Given the description of an element on the screen output the (x, y) to click on. 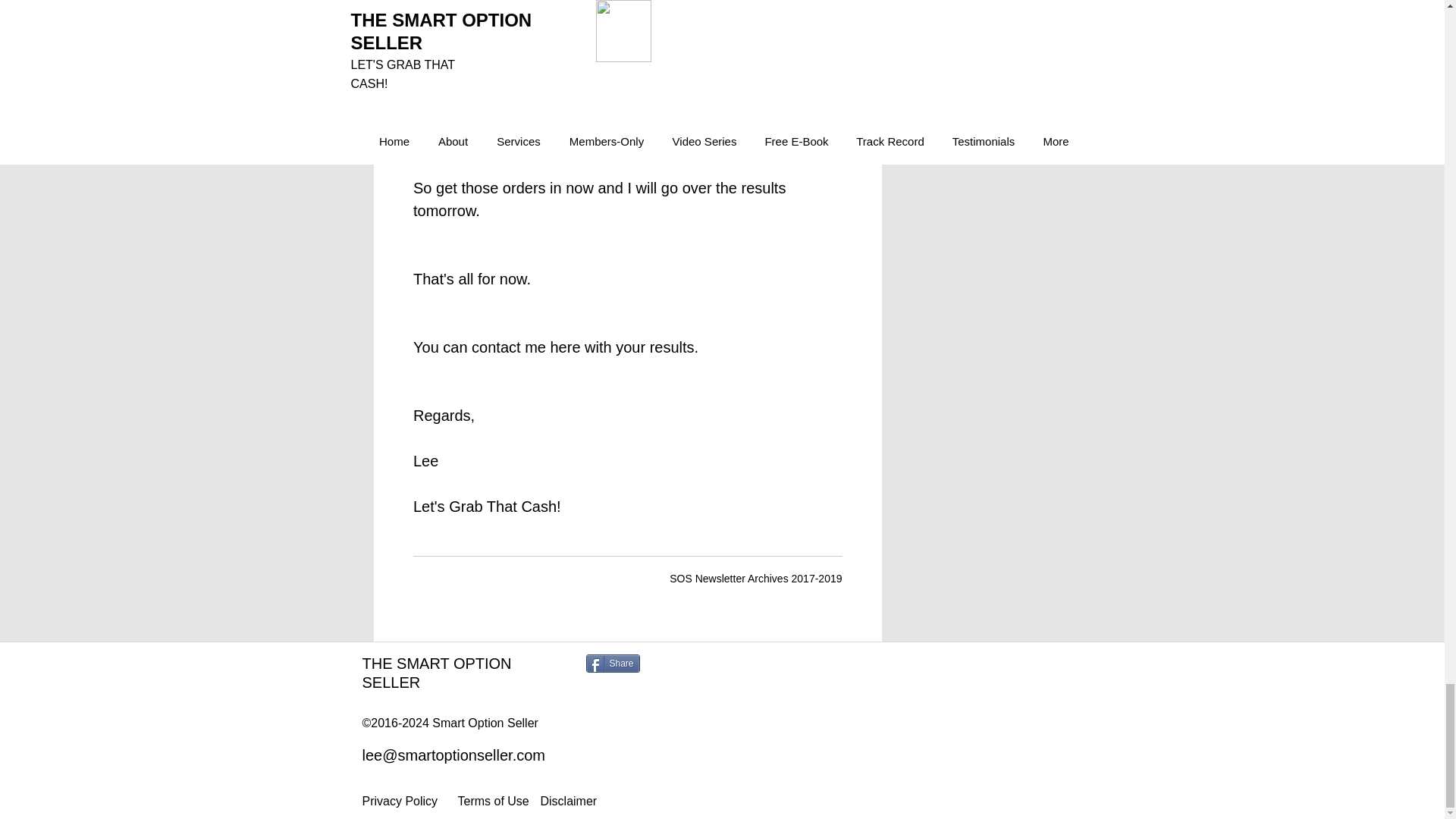
here (564, 347)
SOS Newsletter Archives 2017-2019 (755, 578)
Twitter Follow (684, 663)
Share (612, 663)
